Given the description of an element on the screen output the (x, y) to click on. 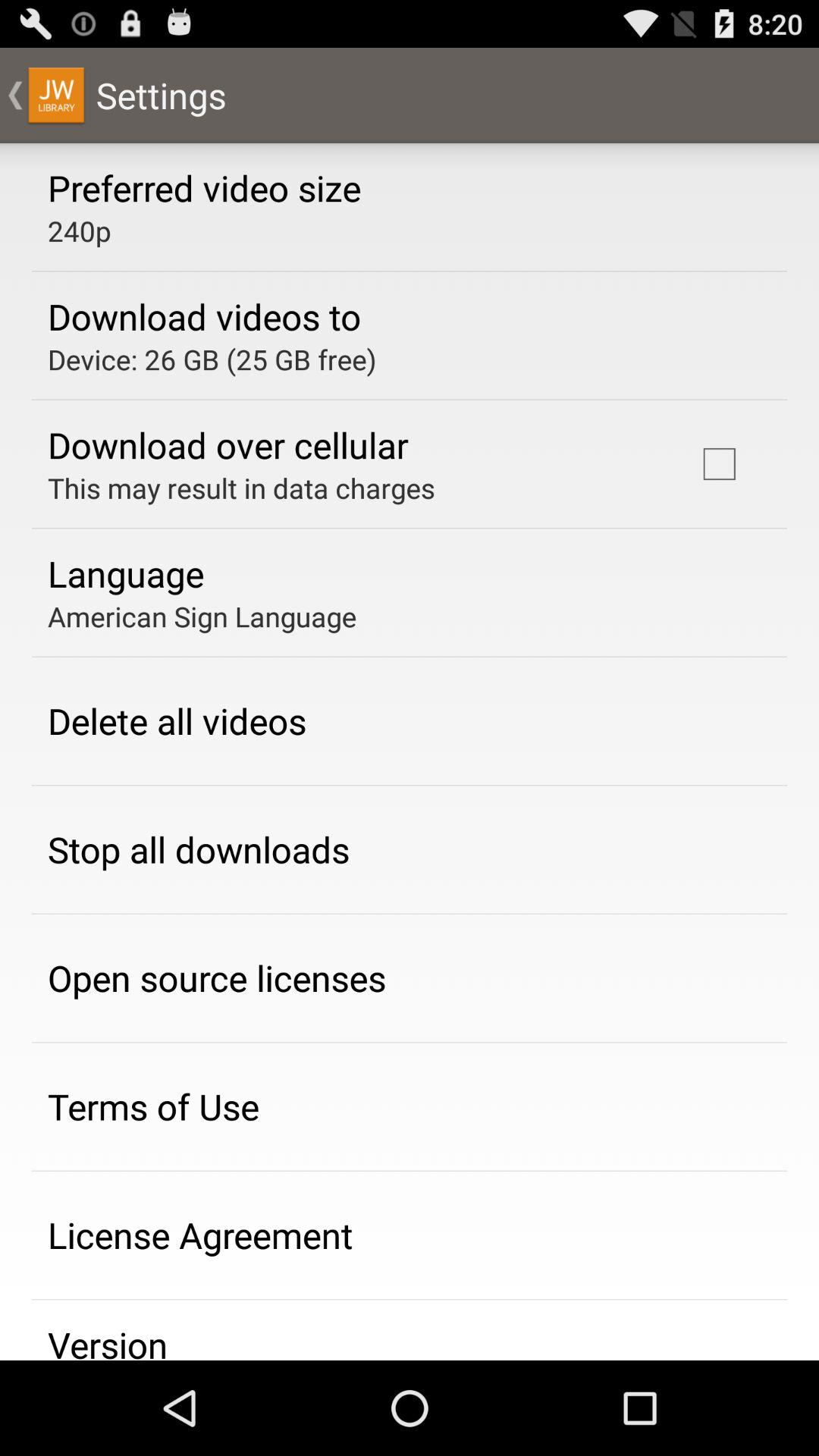
click item to the right of this may result app (719, 463)
